Given the description of an element on the screen output the (x, y) to click on. 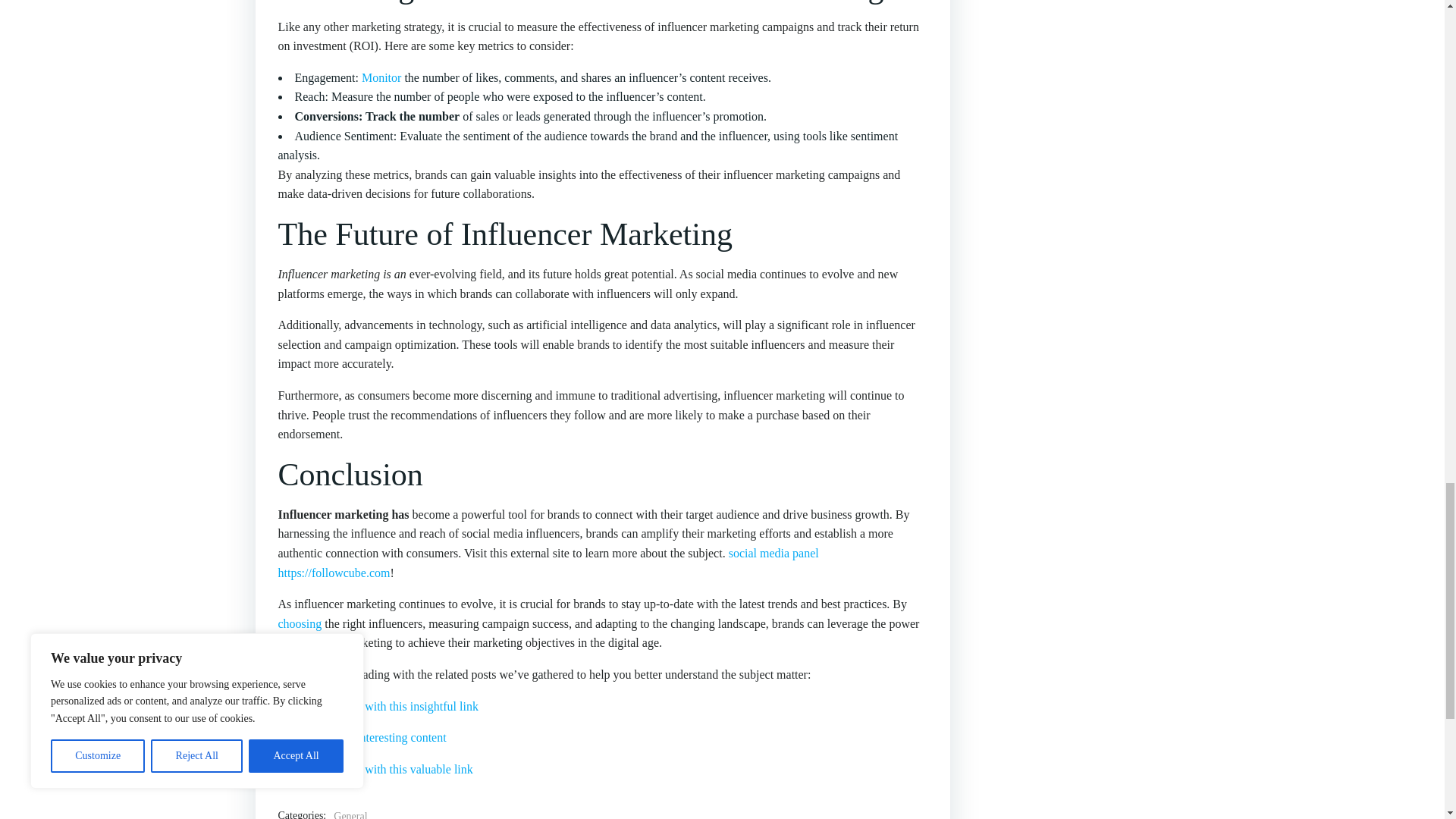
General (349, 813)
Monitor (381, 77)
choosing (299, 623)
Understand more with this valuable link (374, 768)
Understand more with this insightful link (377, 705)
Learn from this interesting content (361, 737)
